Given the description of an element on the screen output the (x, y) to click on. 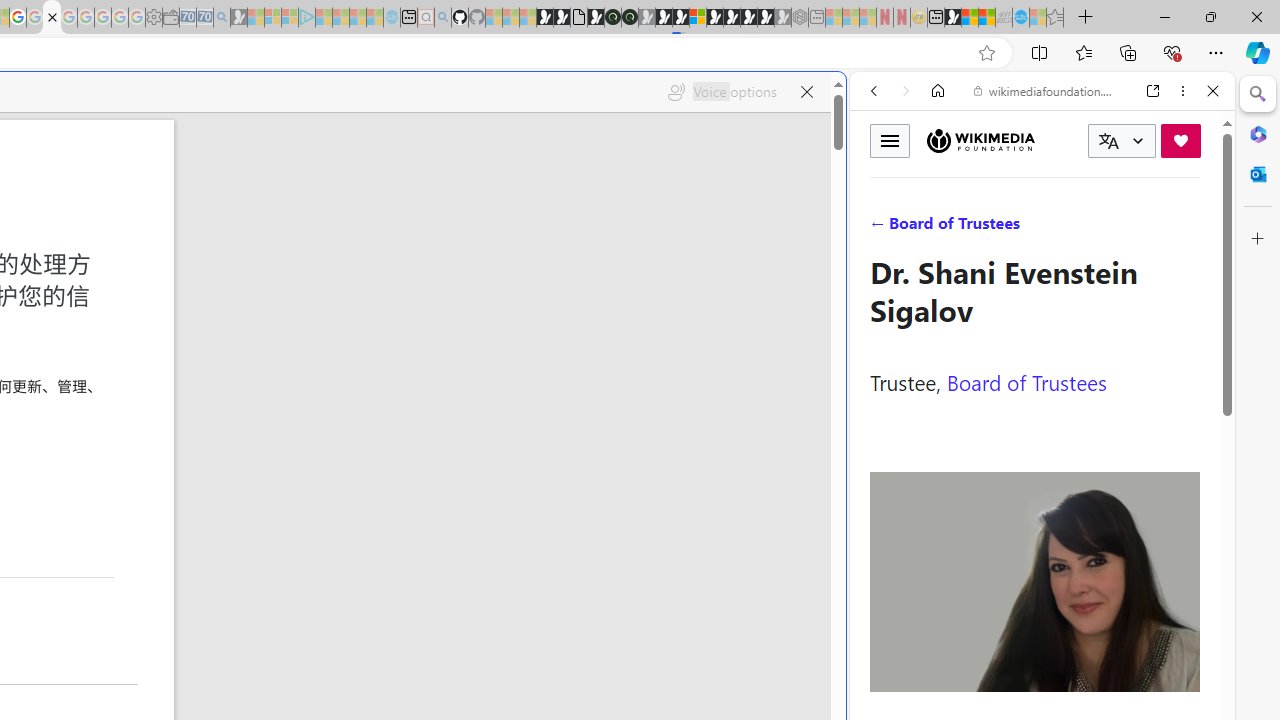
Wikimedia Foundation (980, 141)
Close Customize pane (1258, 239)
Shani Evenstein (1035, 582)
Close (1213, 91)
Future Focus Report 2024 (629, 17)
Copilot (Ctrl+Shift+.) (1258, 52)
Search Filter, Search Tools (1093, 228)
Tabs you've opened (276, 265)
